Given the description of an element on the screen output the (x, y) to click on. 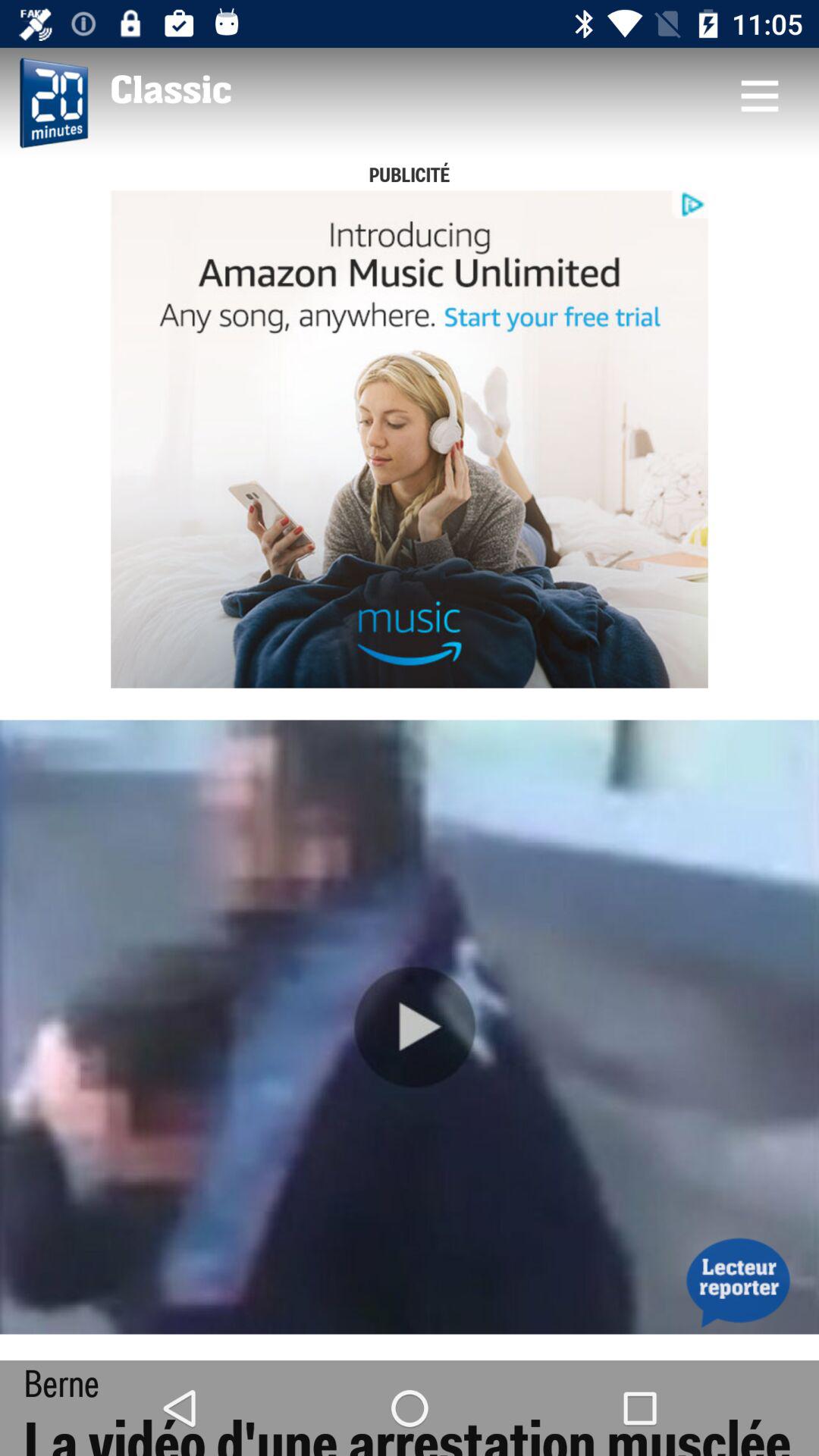
toggle options (759, 95)
